Given the description of an element on the screen output the (x, y) to click on. 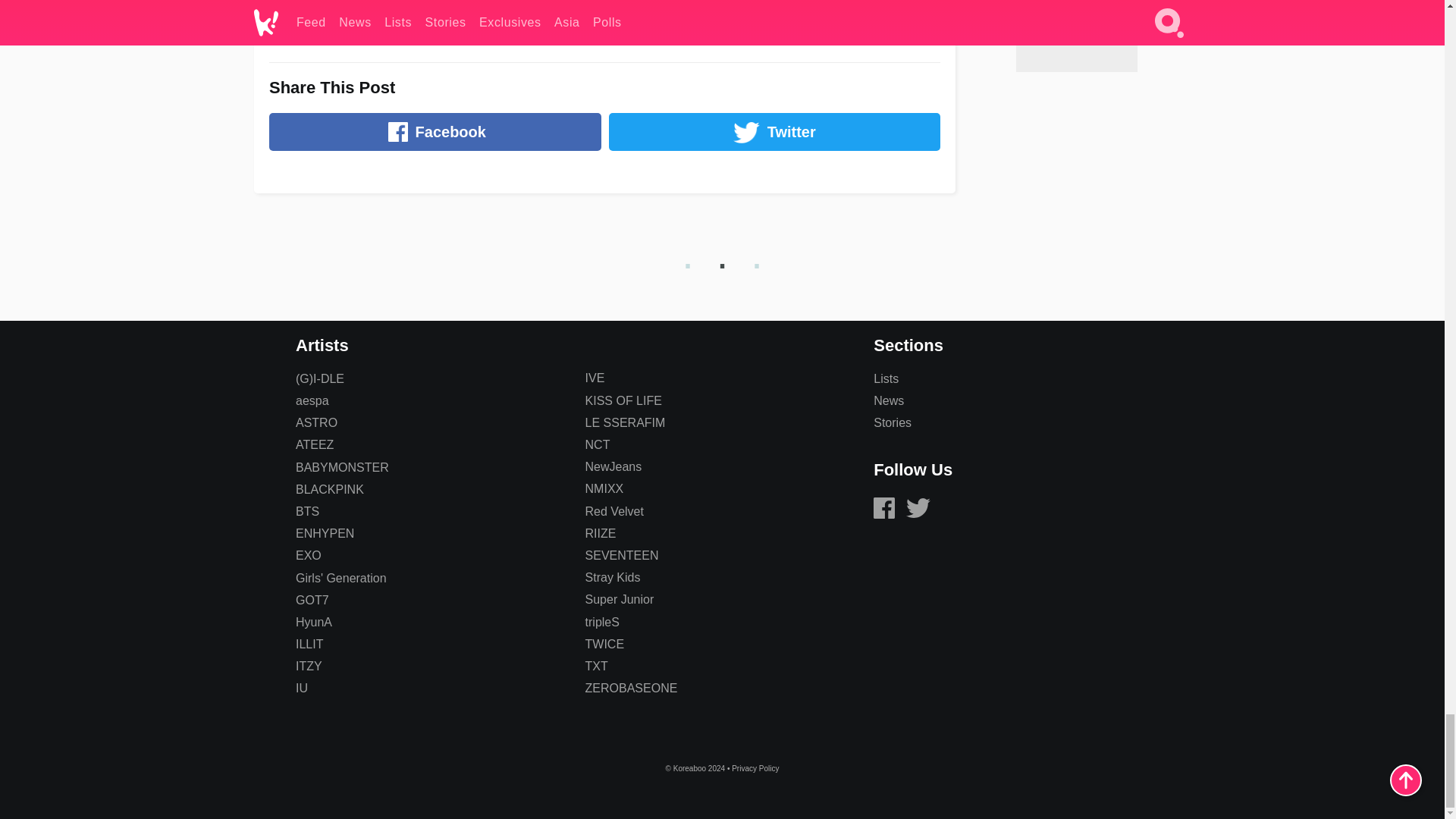
ILLIT (309, 644)
ITZY (308, 666)
IU (301, 687)
Girls' Generation (341, 577)
IVE (595, 377)
BTS (306, 511)
Red Velvet (614, 511)
BABYMONSTER (341, 467)
SEVENTEEN (622, 554)
ASTRO (316, 422)
